Given the description of an element on the screen output the (x, y) to click on. 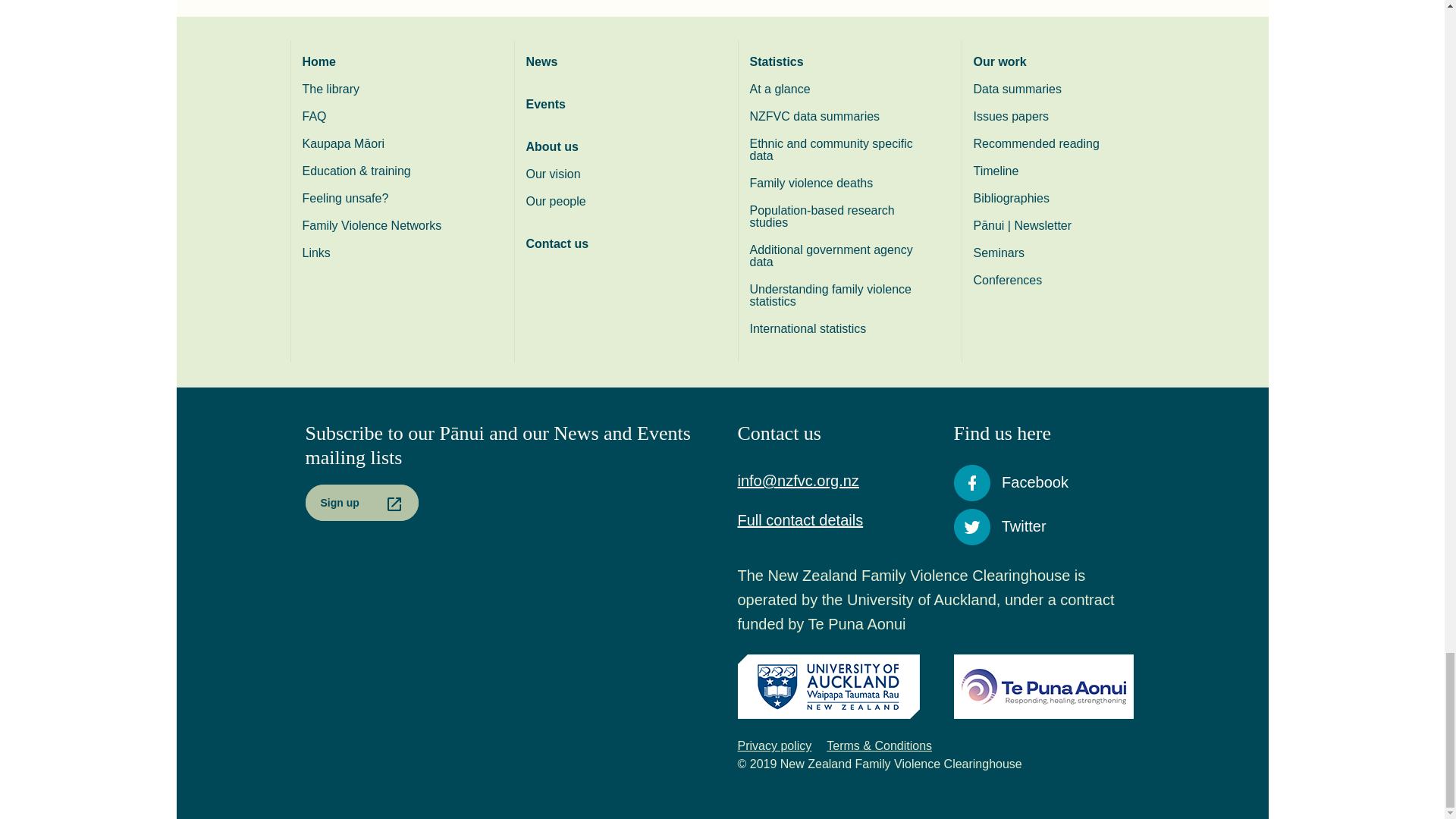
FAQ (392, 116)
The library (392, 89)
Home (392, 62)
